Given the description of an element on the screen output the (x, y) to click on. 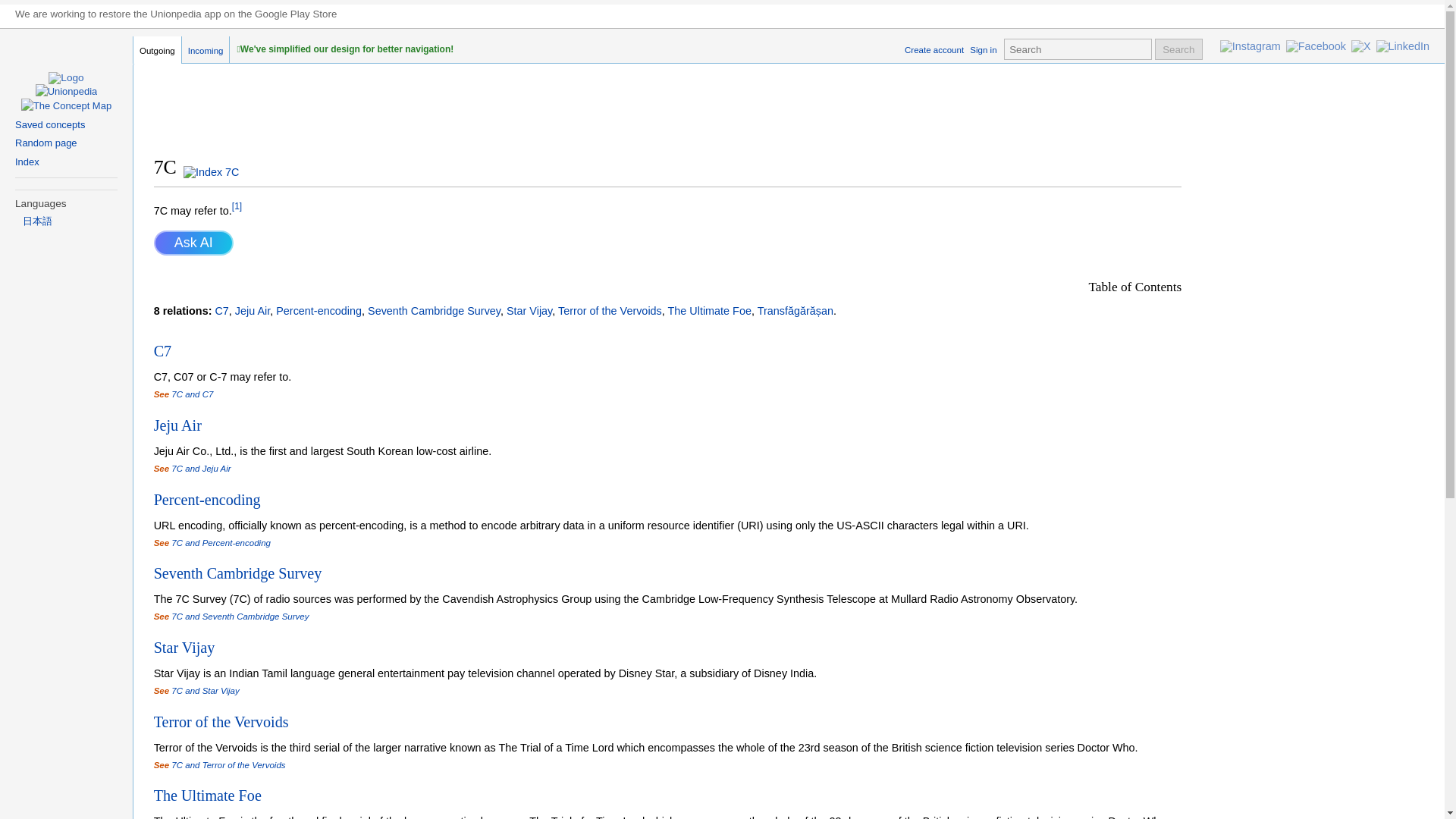
7C and C7 (191, 393)
Outgoing relations (157, 50)
Index (26, 161)
Seventh Cambridge Survey (237, 573)
7C and Seventh Cambridge Survey (239, 615)
Star Vijay (528, 310)
Incoming relations (206, 49)
Seventh Cambridge Survey (434, 310)
Jeju Air (178, 425)
C7 (162, 351)
